Given the description of an element on the screen output the (x, y) to click on. 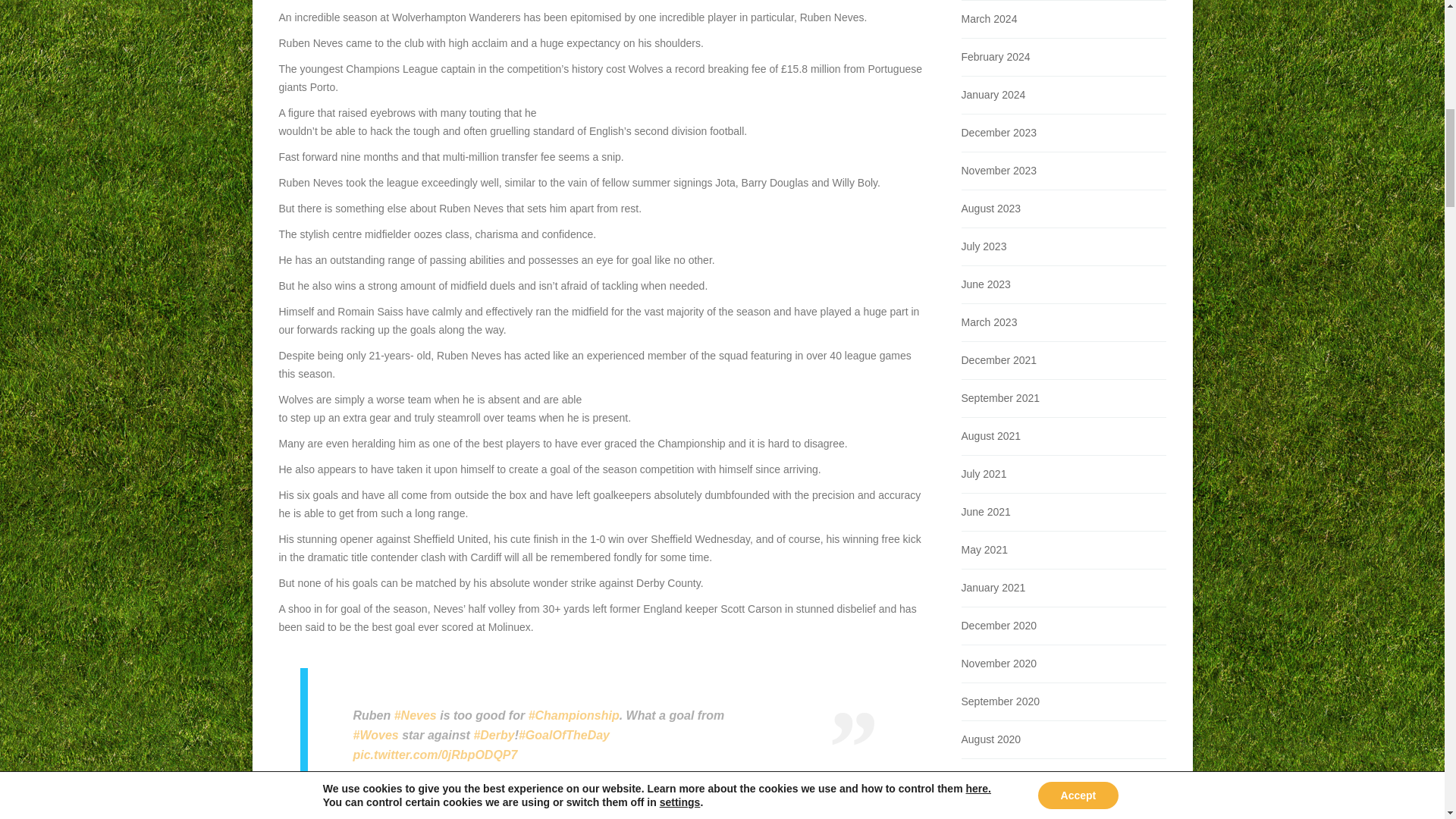
April 12, 2018 (632, 781)
